Given the description of an element on the screen output the (x, y) to click on. 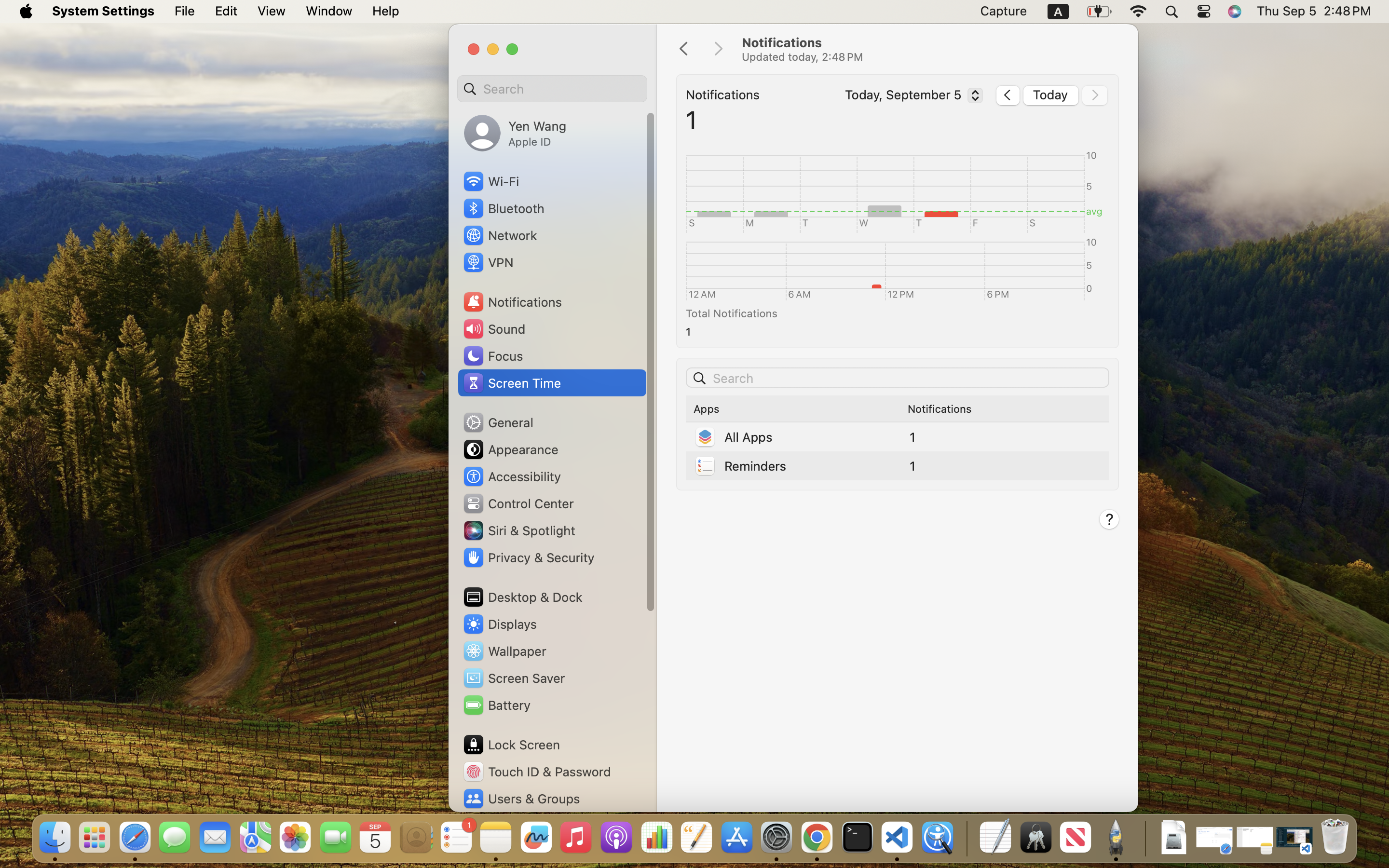
Appearance Element type: AXStaticText (510, 449)
1 Element type: AXStaticText (893, 331)
Screen Time Element type: AXStaticText (511, 382)
Notifications Element type: AXStaticText (929, 49)
Accessibility Element type: AXStaticText (511, 476)
